Given the description of an element on the screen output the (x, y) to click on. 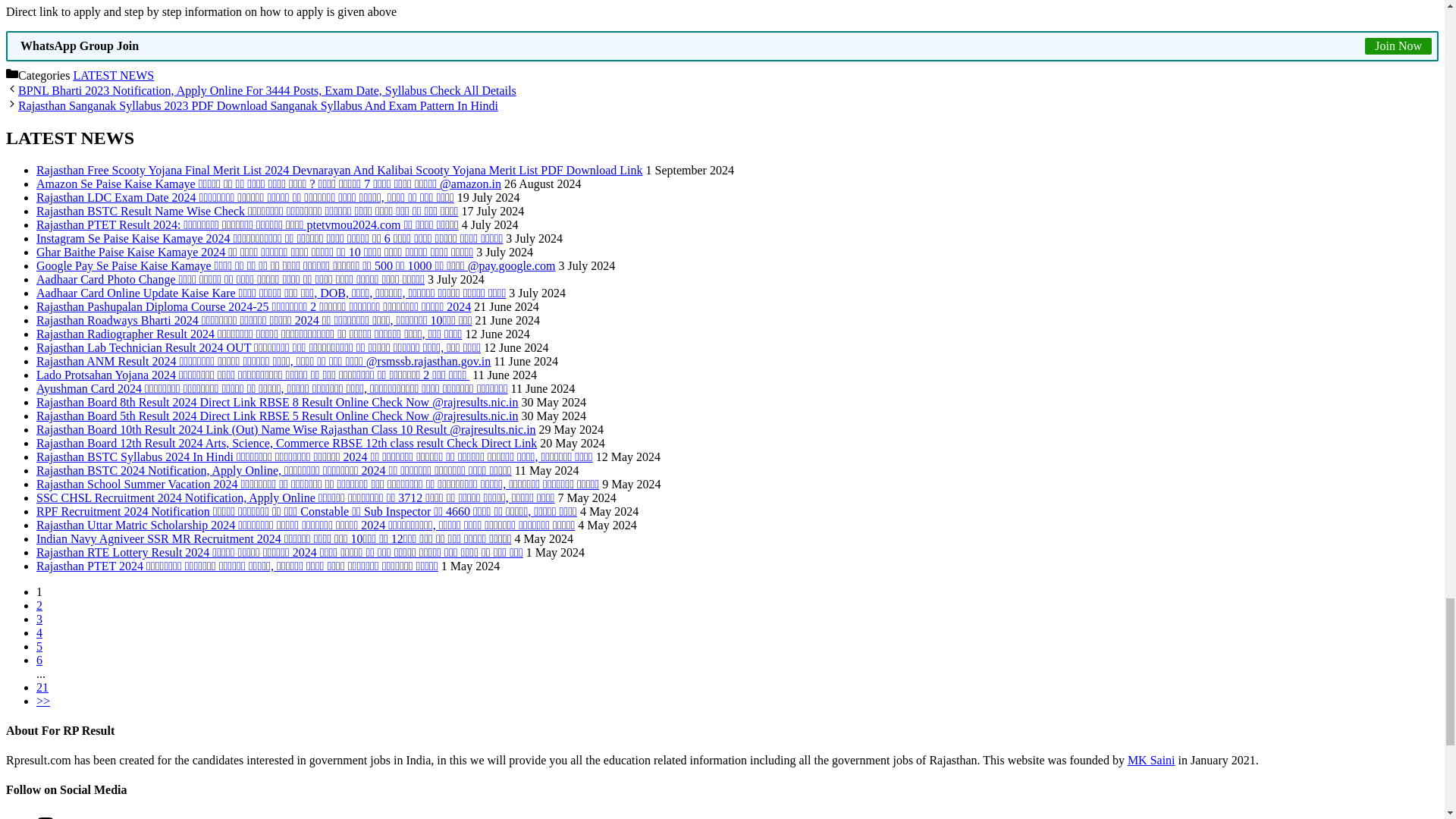
LATEST NEWS (113, 74)
2 (42, 700)
21 (42, 686)
Join Now (1398, 45)
